Given the description of an element on the screen output the (x, y) to click on. 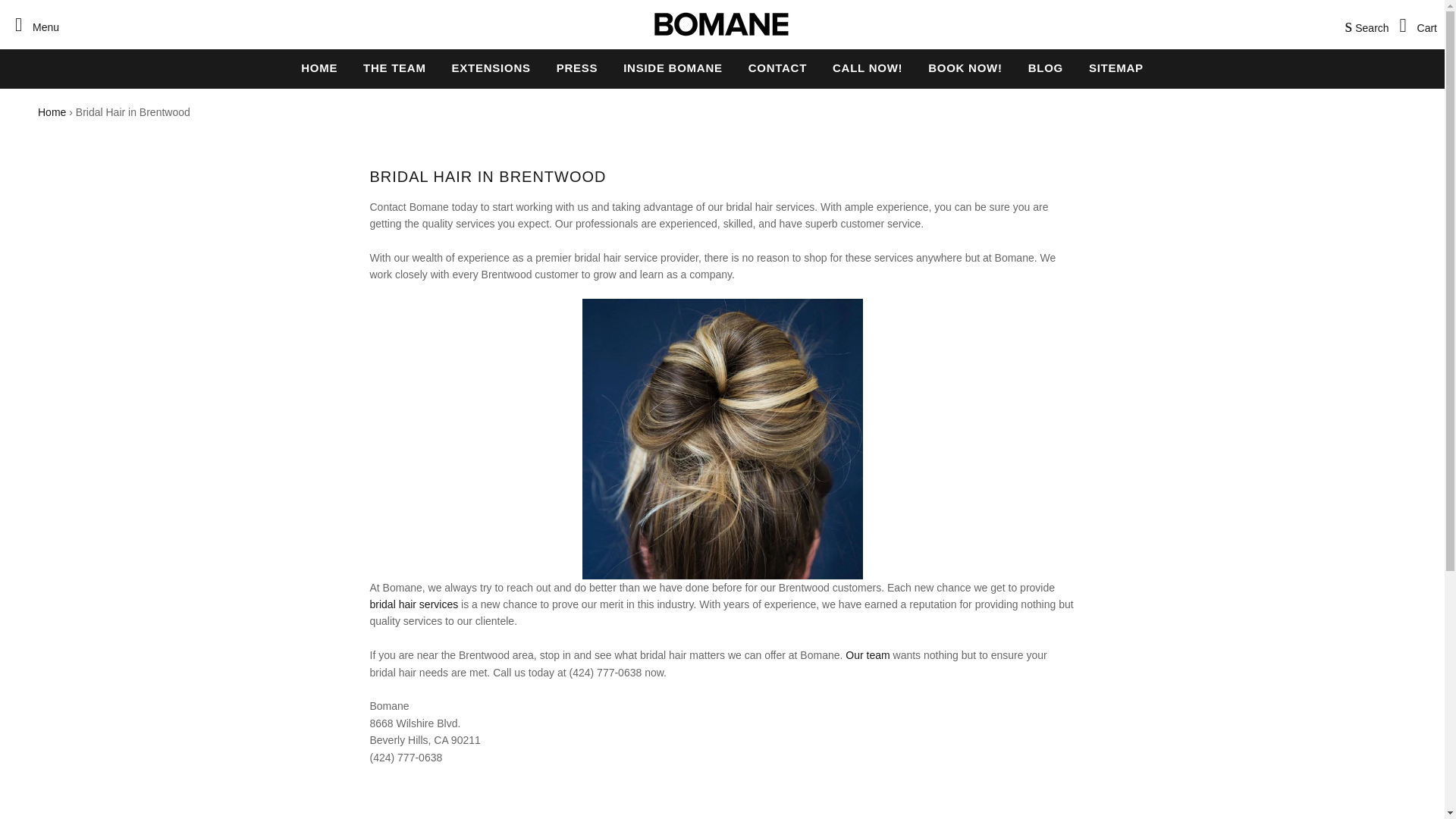
BOOK NOW! (965, 67)
BLOG (1045, 67)
INSIDE BOMANE (672, 67)
Menu (33, 24)
CONTACT (777, 67)
THE TEAM (395, 67)
CALL NOW! (867, 67)
Home (51, 111)
EXTENSIONS (491, 67)
Home (51, 111)
